Given the description of an element on the screen output the (x, y) to click on. 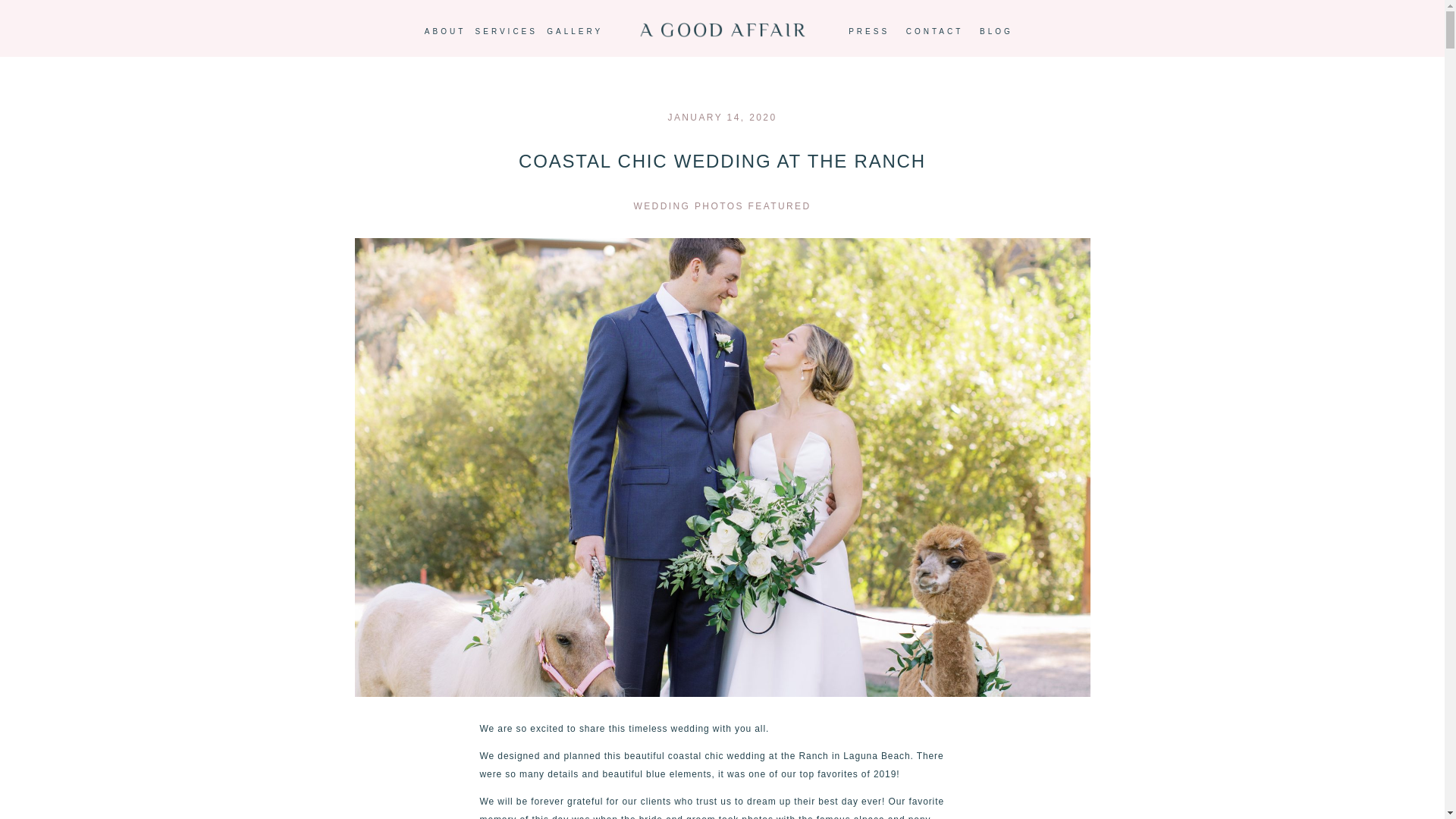
GALLERY (574, 31)
WEDDING PHOTOS FEATURED (722, 206)
BLOG (996, 31)
SERVICES (506, 31)
ABOUT (445, 31)
CONTACT (934, 31)
PRESS (868, 31)
